Given the description of an element on the screen output the (x, y) to click on. 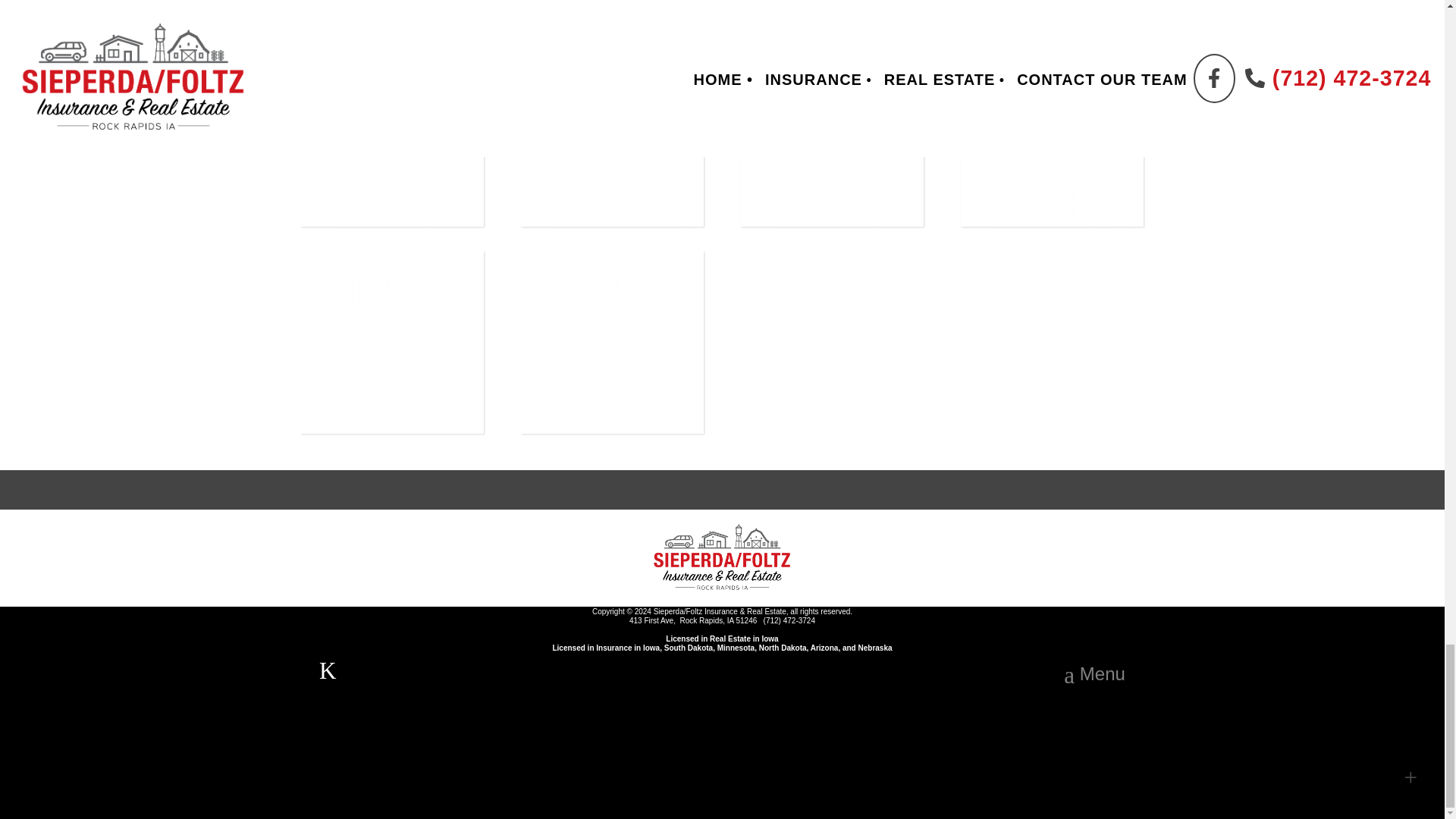
Facebook (328, 670)
Open Menu (1093, 674)
